Given the description of an element on the screen output the (x, y) to click on. 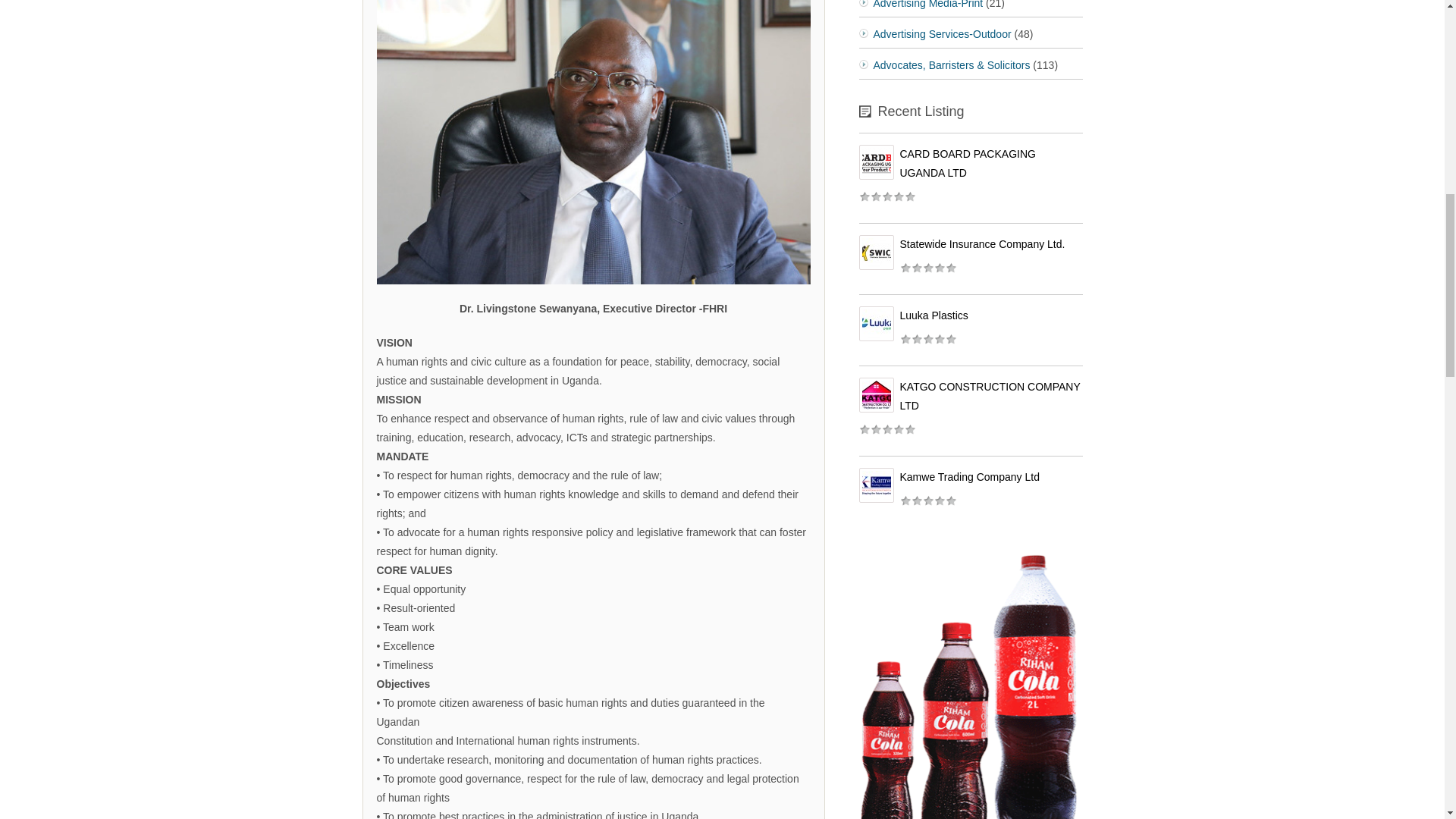
View all posts filed under Advertising Services-Outdoor (942, 33)
Permanent link to Statewide Insurance Company Ltd. (981, 244)
Permanent link to CARD BOARD PACKAGING UGANDA LTD (967, 163)
Permanent link to Luuka Plastics (933, 315)
Permanent link to KATGO CONSTRUCTION COMPANY LTD (989, 395)
View all posts filed under Advertising Media-Print (928, 4)
Permanent link to Kamwe Trading Company Ltd (969, 476)
